Given the description of an element on the screen output the (x, y) to click on. 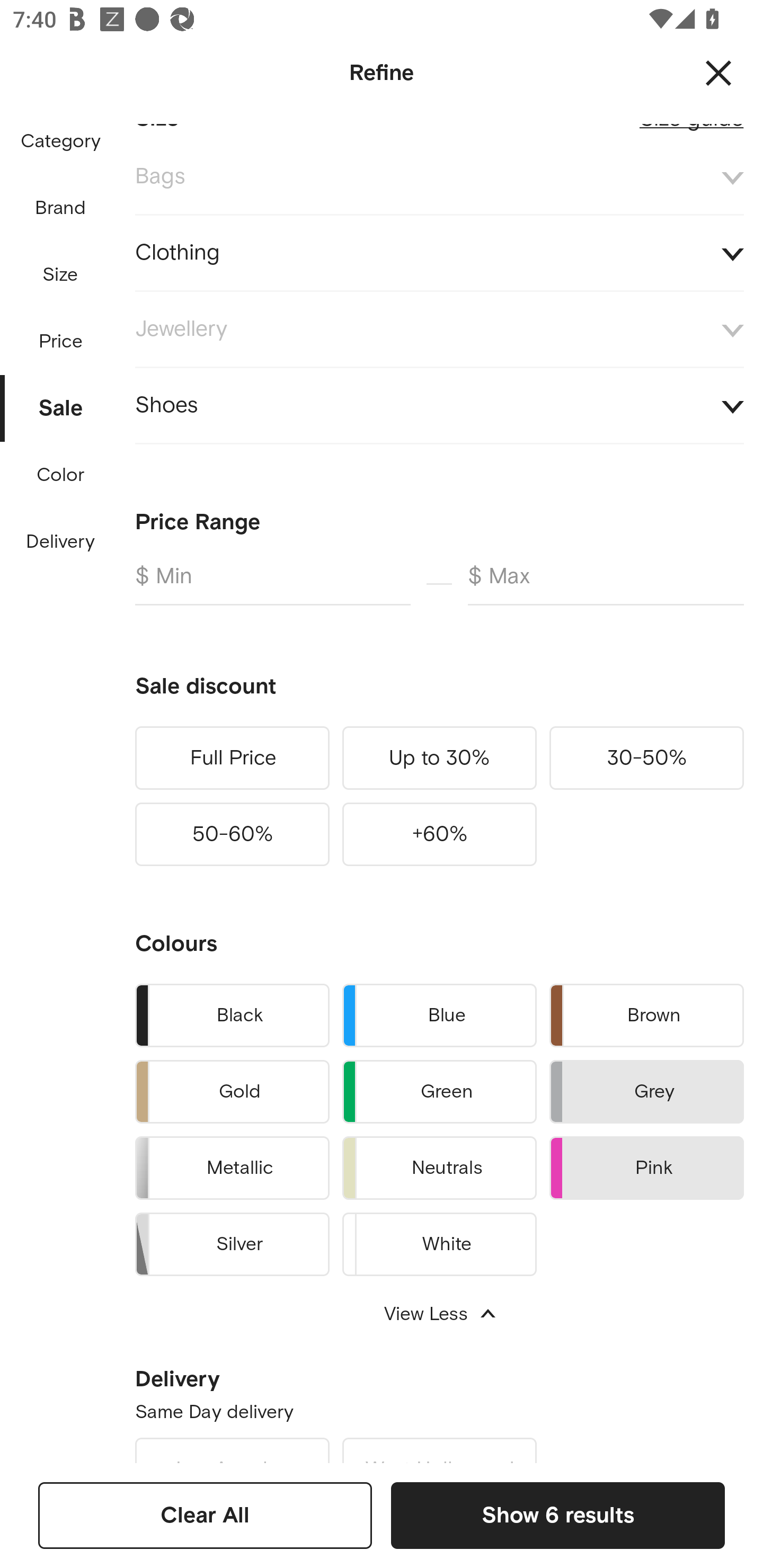
Category (60, 141)
Bags (439, 176)
Brand (60, 208)
Clothing (439, 252)
Size (60, 274)
Jewellery (439, 328)
Price (60, 337)
Shoes (439, 404)
Sale (60, 403)
Color (60, 475)
Delivery (60, 542)
$ Min (272, 583)
$ Max (605, 583)
Full Price (232, 757)
Up to 30% (439, 757)
30-50% (646, 757)
50-60% (232, 833)
+60% (439, 833)
Black (232, 1014)
Blue (439, 1014)
Brown (646, 1014)
Gold (232, 1091)
Green (439, 1091)
Grey (646, 1091)
Metallic (232, 1167)
Neutrals (439, 1167)
Pink (646, 1167)
Silver (232, 1240)
White (439, 1240)
View Less (439, 1313)
Clear All (205, 1515)
Show 6 results (557, 1515)
